Given the description of an element on the screen output the (x, y) to click on. 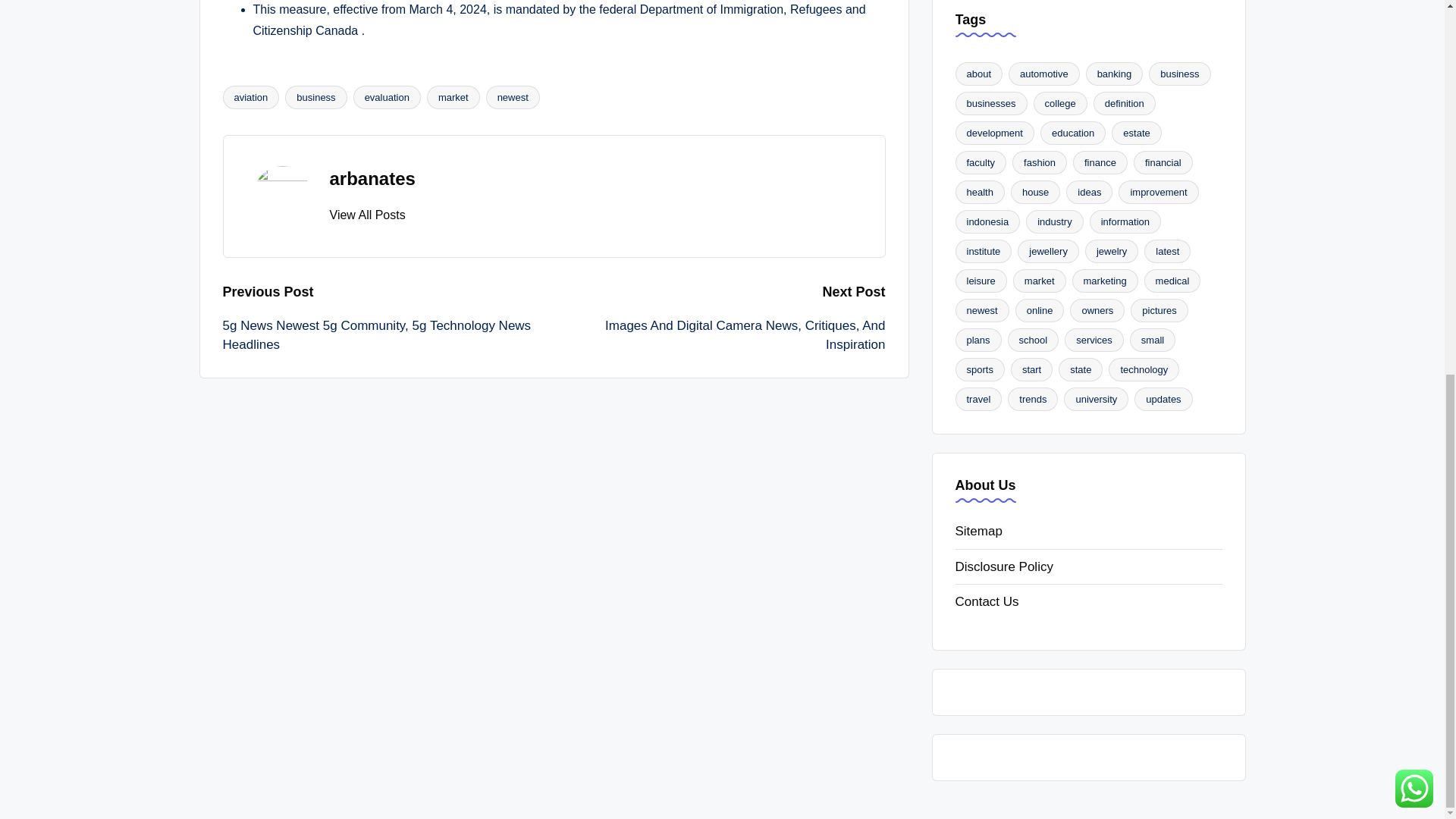
arbanates (371, 178)
definition (1124, 103)
Images And Digital Camera News, Critiques, And Inspiration (719, 335)
business (315, 96)
college (1060, 103)
banking (1114, 73)
market (453, 96)
evaluation (386, 96)
automotive (1044, 73)
View All Posts (366, 214)
